Given the description of an element on the screen output the (x, y) to click on. 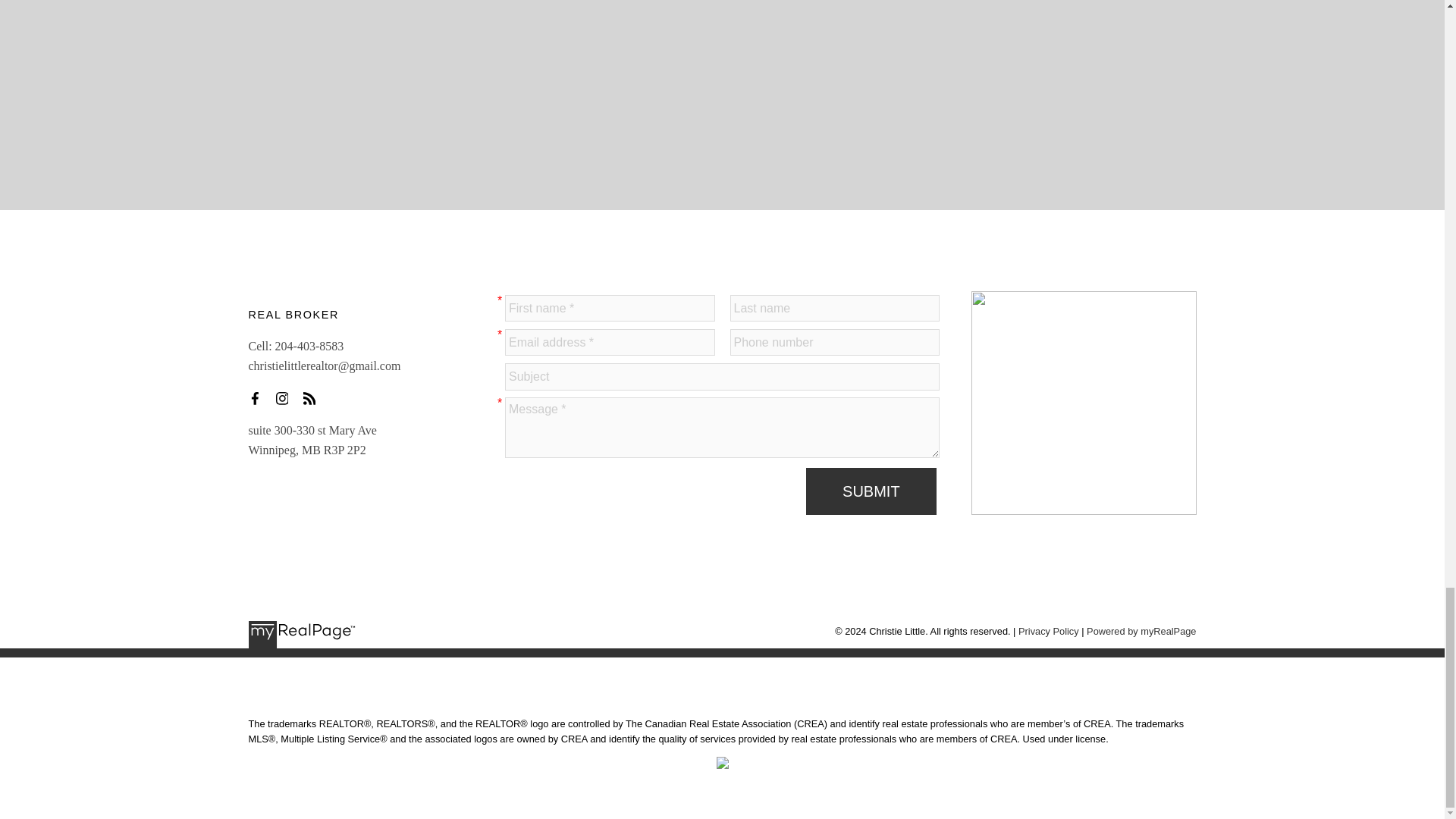
Facebook (258, 397)
Blog (313, 397)
instagram (286, 397)
